Given the description of an element on the screen output the (x, y) to click on. 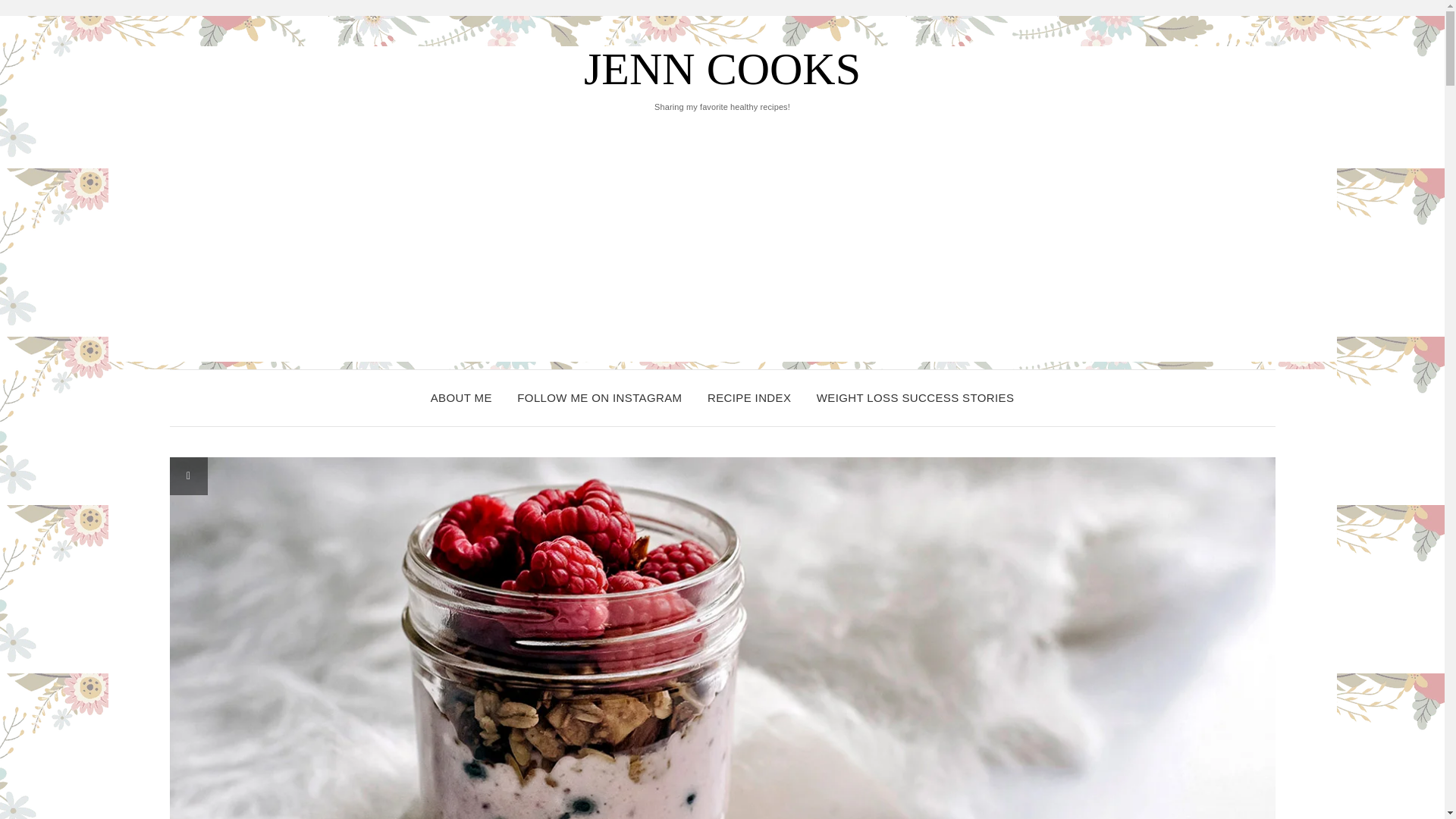
FOLLOW ME ON INSTAGRAM (598, 397)
JENN COOKS (721, 69)
RECIPE INDEX (748, 397)
ABOUT ME (461, 397)
WEIGHT LOSS SUCCESS STORIES (914, 397)
